Given the description of an element on the screen output the (x, y) to click on. 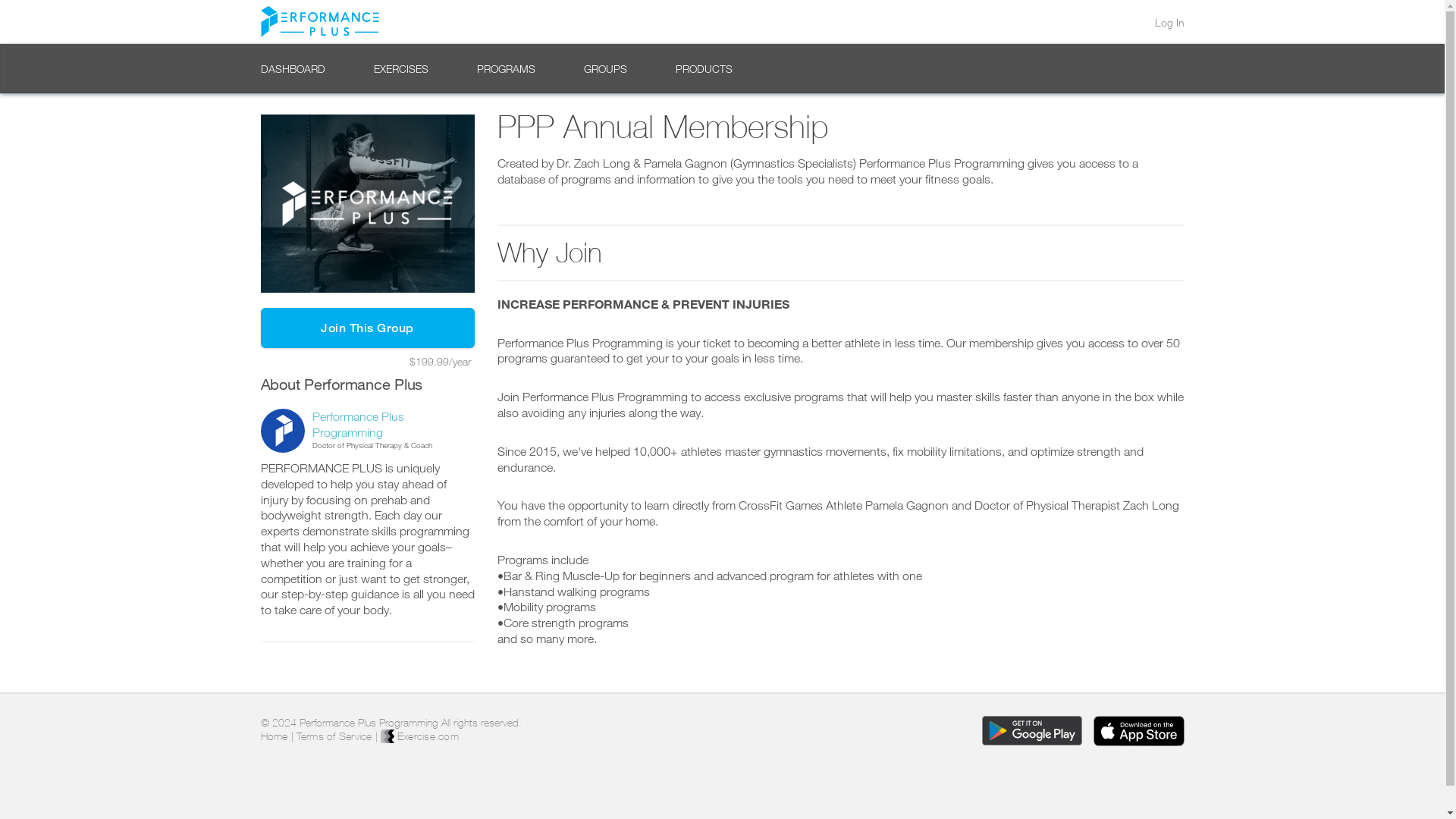
EXERCISES (400, 68)
Exercise.com (419, 736)
Home (274, 736)
PRODUCTS (703, 68)
PROGRAMS (505, 68)
DASHBOARD (292, 68)
Log In (1168, 22)
Terms of Service (333, 736)
Join This Group (367, 327)
Performance Plus Programming (358, 423)
